Given the description of an element on the screen output the (x, y) to click on. 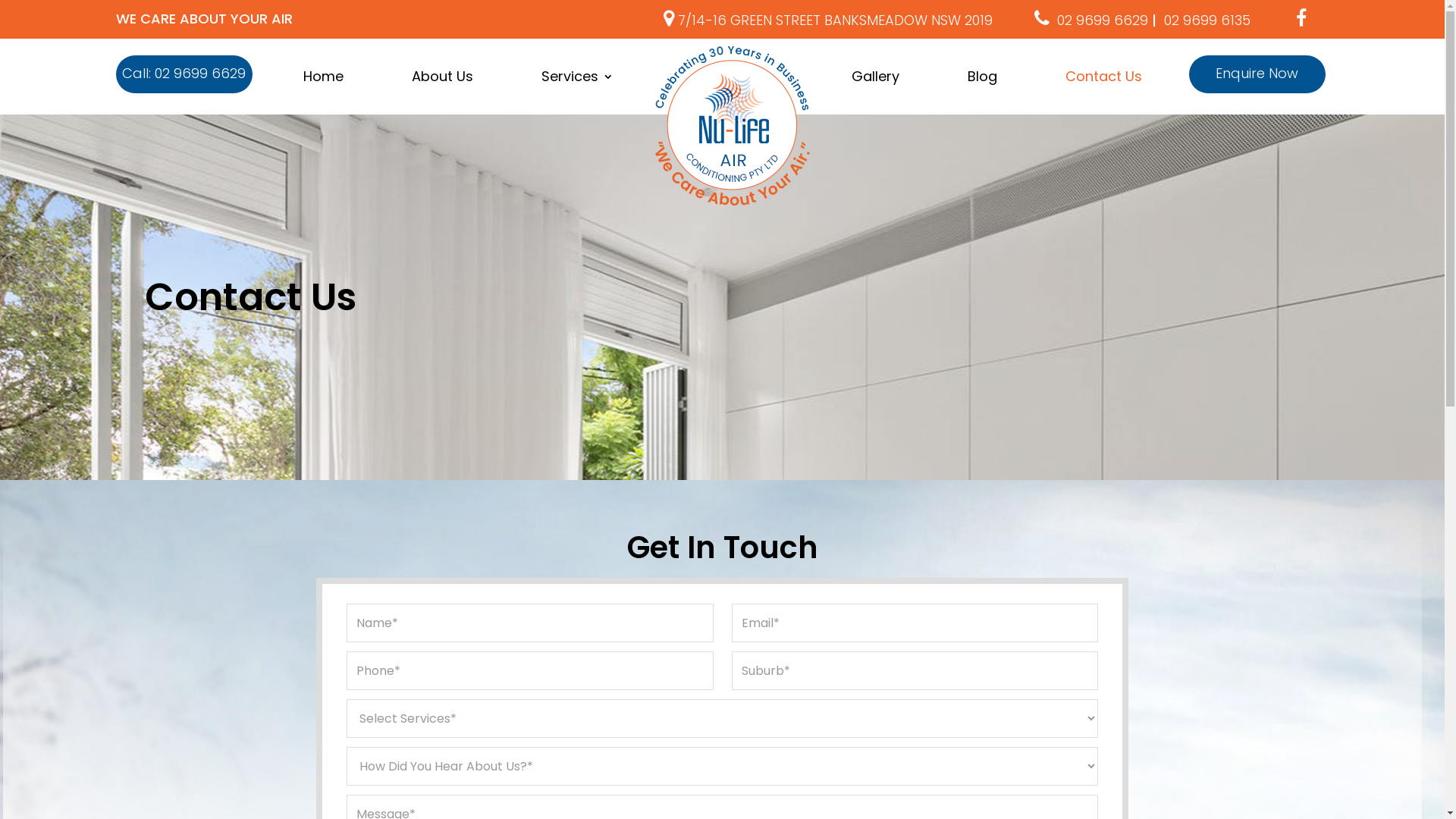
02 9699 6629 Element type: text (1101, 19)
Call: 02 9699 6629 Element type: text (183, 74)
Blog Element type: text (982, 76)
Services Element type: text (577, 76)
Contact Us Element type: text (1102, 76)
7/14-16 GREEN STREET BANKSMEADOW NSW 2019 Element type: text (825, 19)
About Us Element type: text (441, 76)
Home Element type: text (323, 76)
Enquire Now Element type: text (1257, 74)
Gallery Element type: text (874, 76)
02 9699 6135 Element type: text (1207, 19)
